Given the description of an element on the screen output the (x, y) to click on. 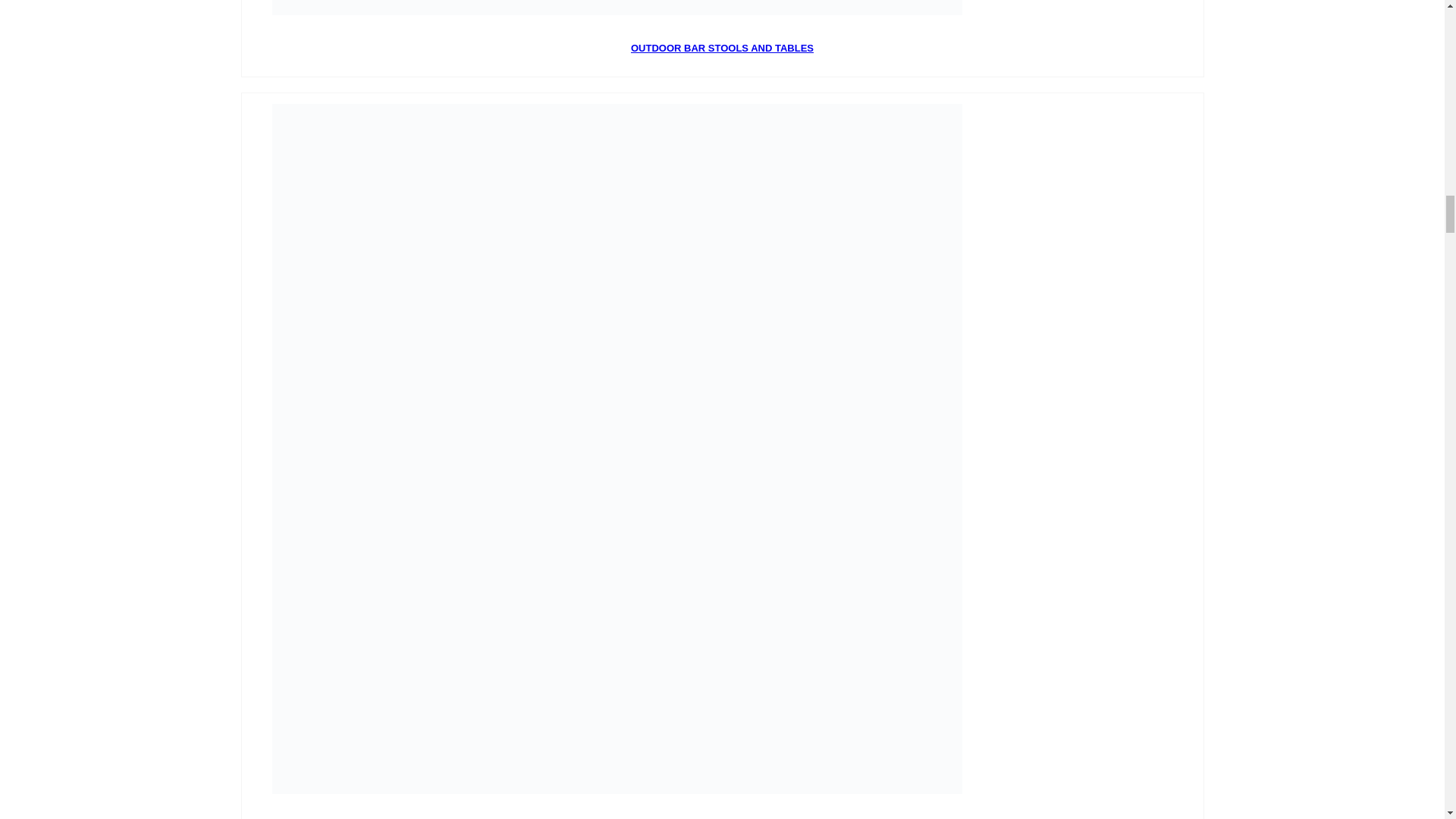
OUTDOOR BAR STOOLS AND TABLES (721, 48)
